Given the description of an element on the screen output the (x, y) to click on. 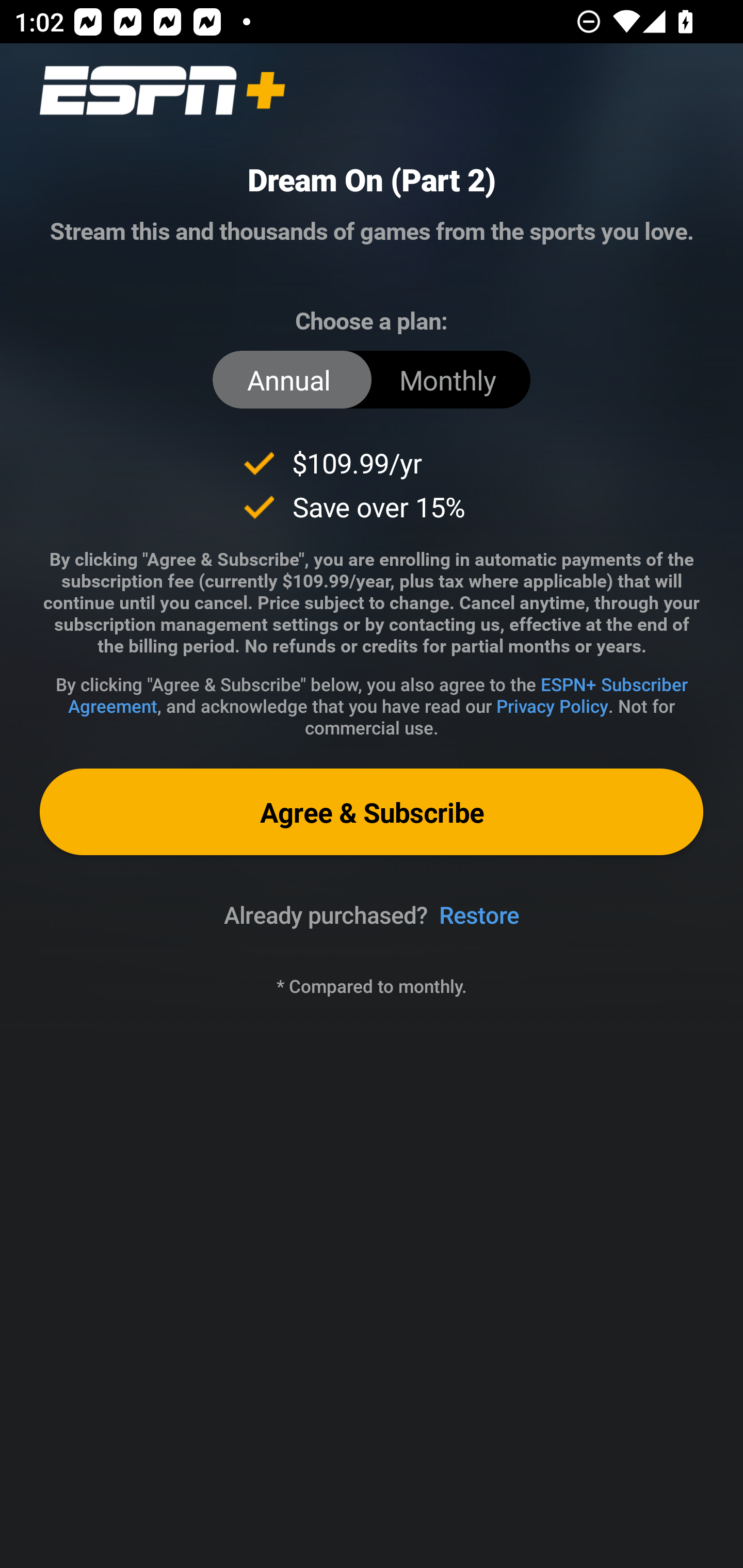
Agree & Subscribe (371, 811)
